Given the description of an element on the screen output the (x, y) to click on. 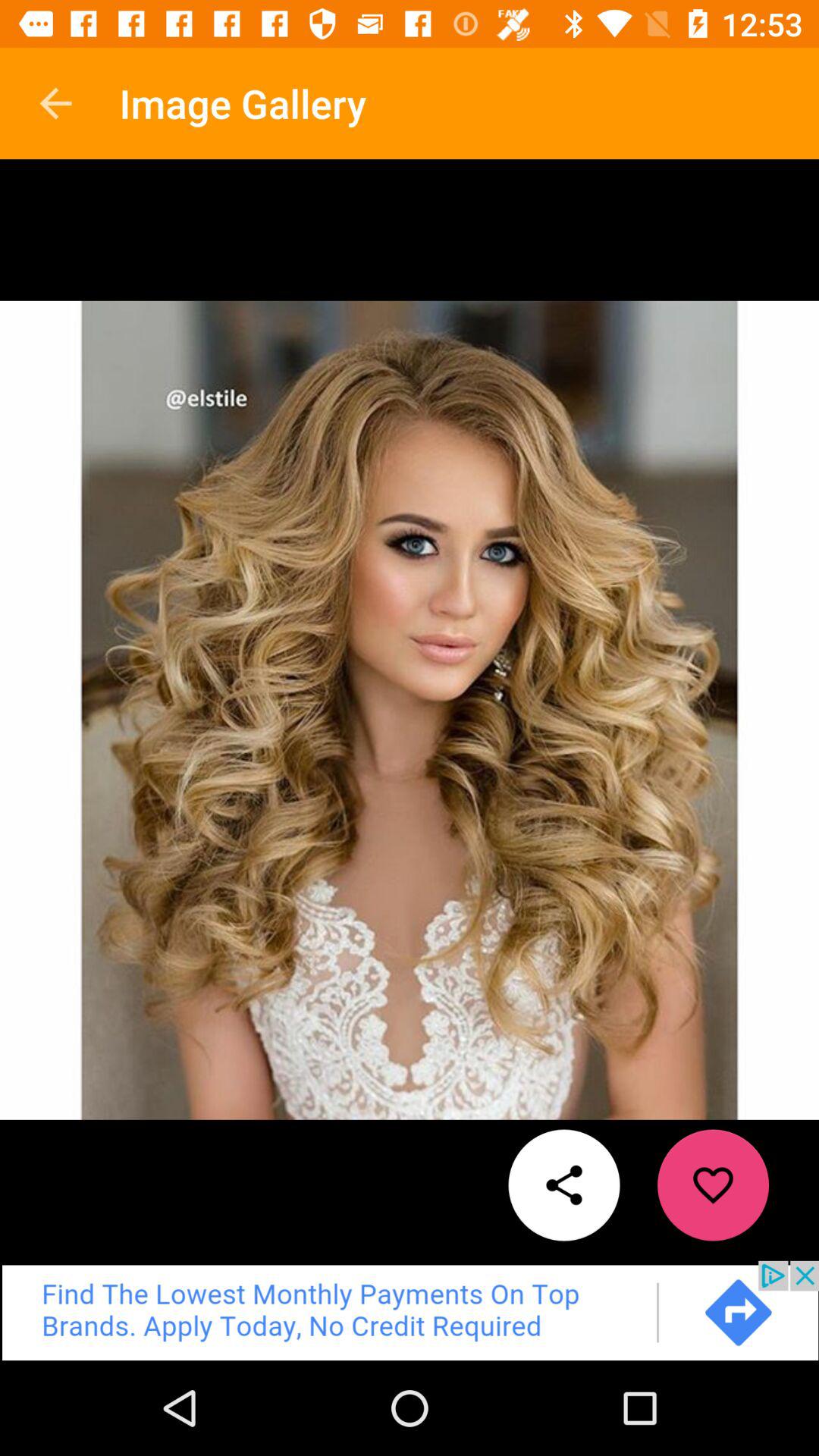
go to previous (409, 1310)
